Given the description of an element on the screen output the (x, y) to click on. 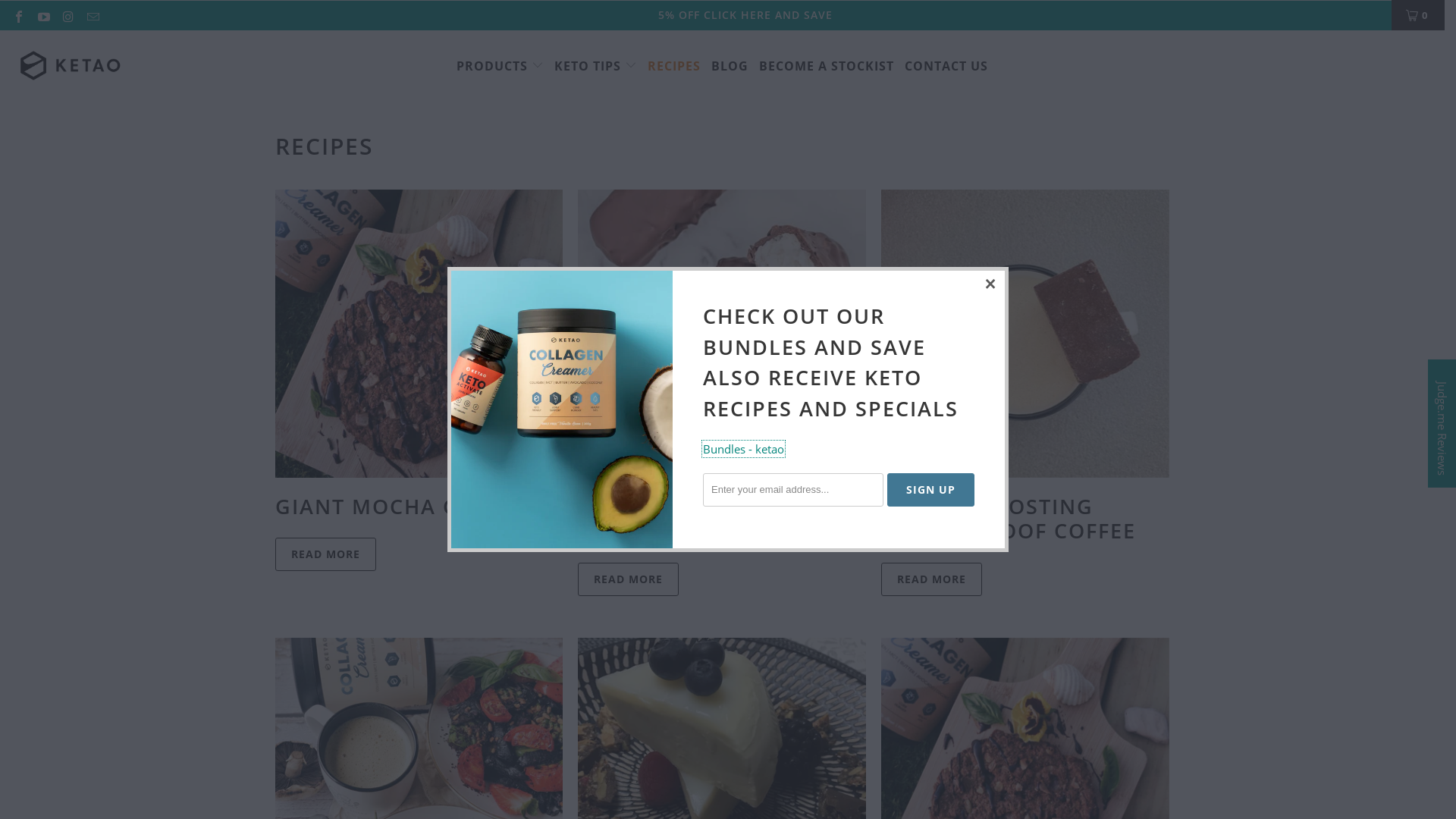
KETONE BOOSTING BULLET PROOF COFFEE Element type: text (1008, 518)
ketao Element type: hover (70, 66)
Sign Up Element type: text (930, 489)
ketao on Instagram Element type: hover (67, 14)
CONTACT US Element type: text (946, 65)
PRODUCTS Element type: text (499, 65)
KETO TIPS Element type: text (595, 65)
READ MORE Element type: text (324, 554)
Giant Mocha Cookie Element type: hover (418, 333)
READ MORE Element type: text (931, 579)
ketao on Facebook Element type: hover (18, 14)
COCONUT BOUNTY DARK CHOC KETO BARS Element type: text (716, 518)
Email ketao Element type: hover (91, 14)
READ MORE Element type: text (627, 579)
BECOME A STOCKIST Element type: text (826, 65)
RECIPES Element type: text (673, 65)
BLOG Element type: text (729, 65)
Coconut Bounty Dark Choc Keto Bars Element type: hover (721, 333)
Bundles - ketao Element type: text (743, 448)
0 Element type: text (1417, 15)
Ketone boosting Bullet Proof Coffee Element type: hover (1025, 333)
Close Element type: hover (990, 284)
ketao on YouTube Element type: hover (42, 14)
5% OFF CLICK HERE AND SAVE Element type: text (745, 14)
GIANT MOCHA COOKIE Element type: text (400, 506)
